Given the description of an element on the screen output the (x, y) to click on. 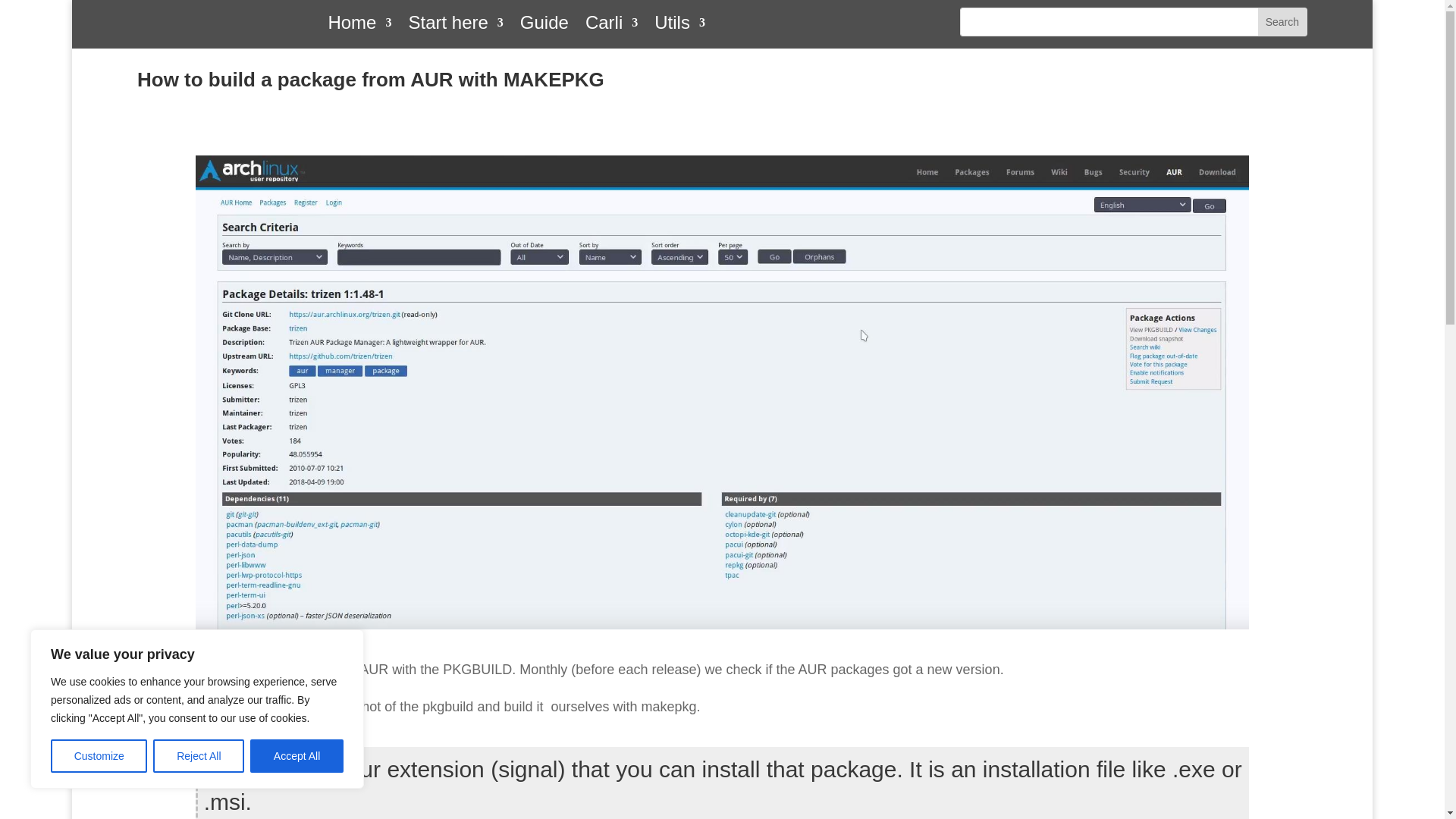
Start here (454, 25)
Carli (611, 25)
Accept All (296, 756)
Home (359, 25)
Customize (98, 756)
Search (1281, 22)
Search (1281, 22)
Guide (544, 25)
Reject All (198, 756)
